Given the description of an element on the screen output the (x, y) to click on. 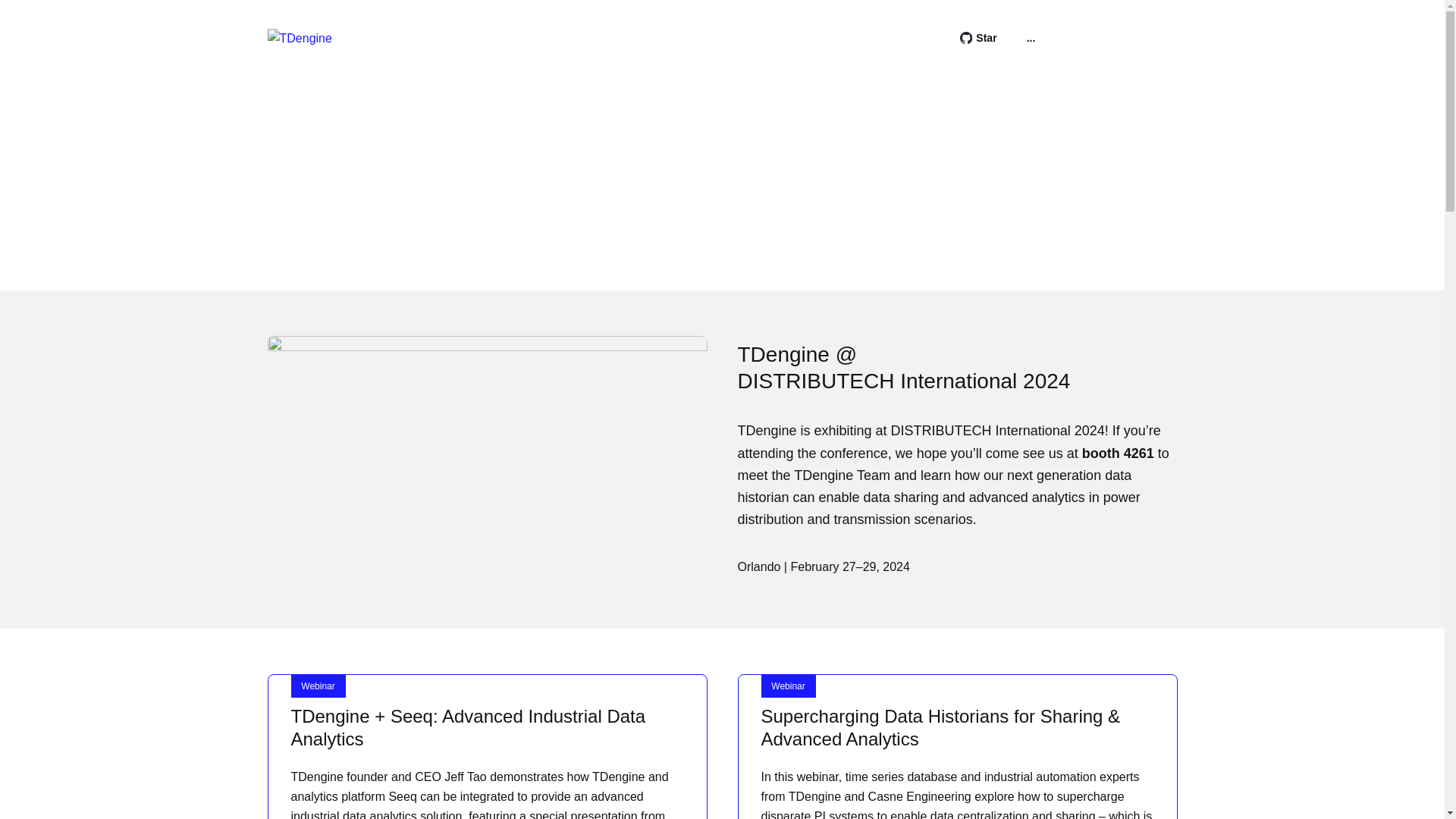
Contact Us (1100, 37)
Solutions (470, 37)
... (1031, 37)
Products (388, 37)
Cloud (1161, 37)
Star (978, 37)
Resources (553, 37)
